Given the description of an element on the screen output the (x, y) to click on. 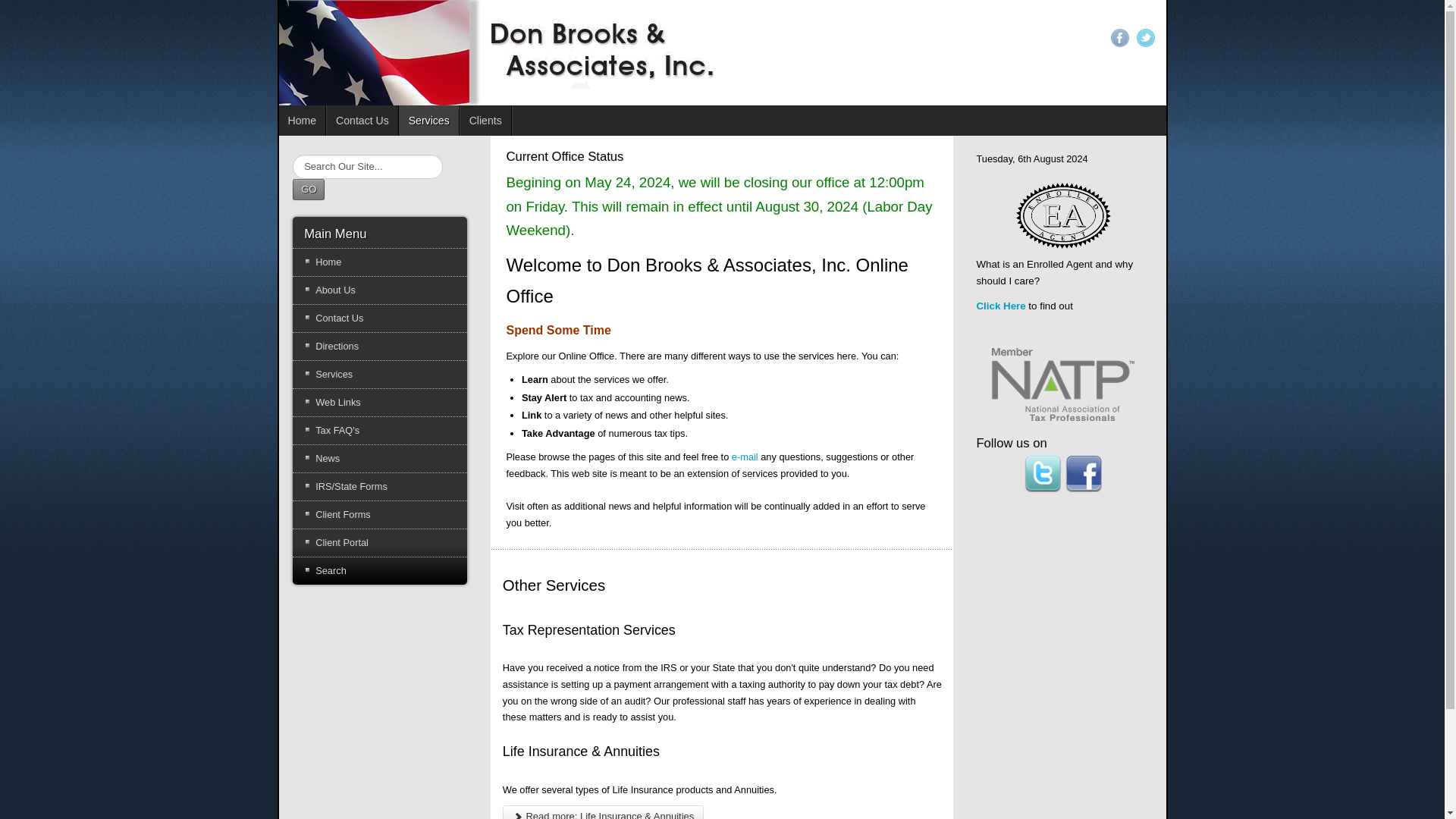
Services (379, 374)
Click Here (1000, 306)
Web Links (379, 402)
Search Our Site... (367, 166)
e-mail (745, 456)
About Us (379, 289)
Follow us on Facebook (1083, 473)
Contact Us (362, 120)
Client Forms (379, 514)
Contact Us (379, 318)
GO (308, 189)
Client Portal (379, 542)
Search Our Site... (367, 166)
Search (379, 570)
